Given the description of an element on the screen output the (x, y) to click on. 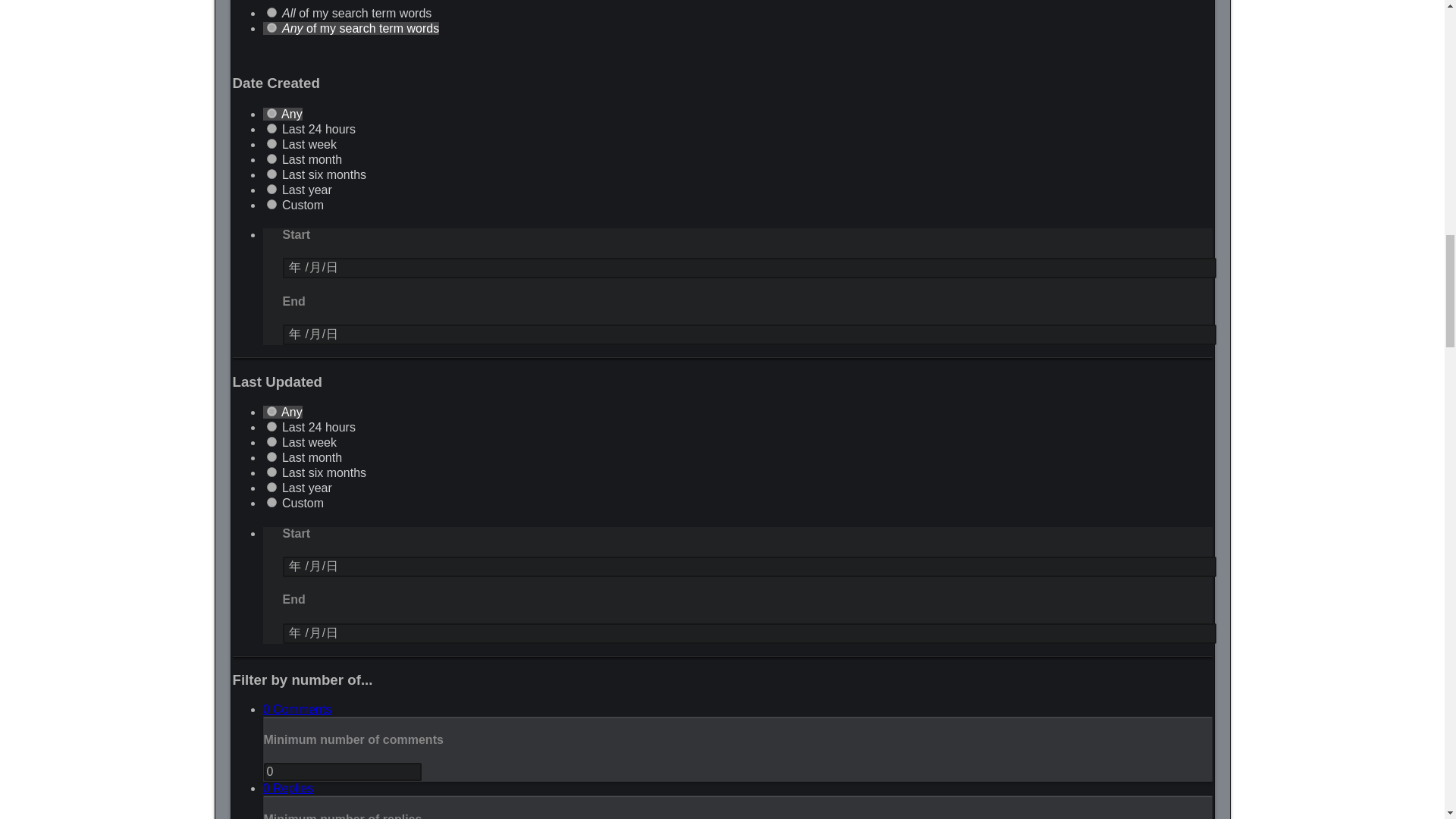
week (271, 143)
and (271, 12)
or (271, 27)
day (271, 128)
month (271, 158)
any (271, 112)
